Given the description of an element on the screen output the (x, y) to click on. 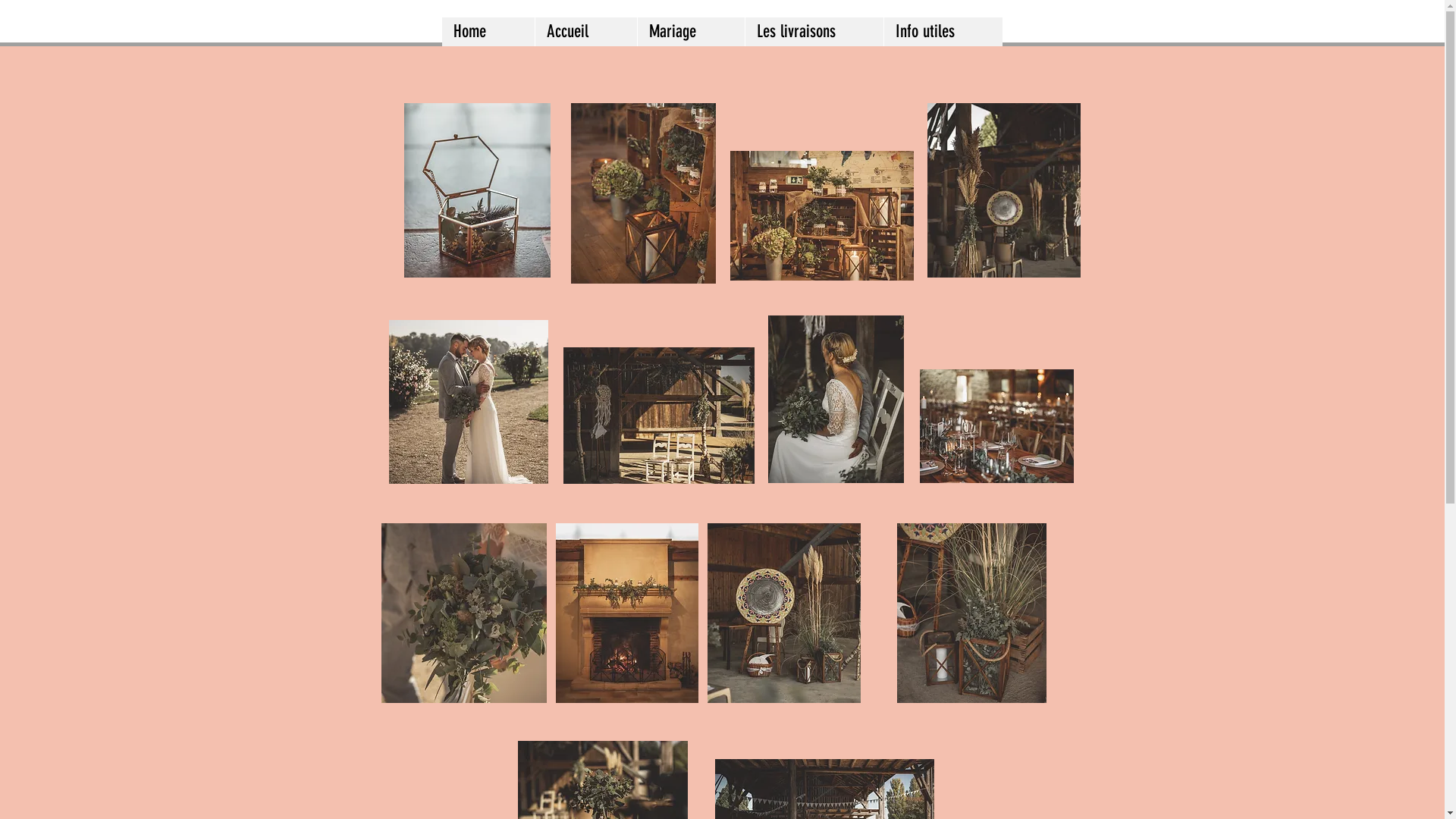
Mariage Element type: text (690, 31)
Accueil Element type: text (584, 31)
Home Element type: text (487, 31)
Info utiles Element type: text (941, 31)
Les livraisons Element type: text (813, 31)
